Given the description of an element on the screen output the (x, y) to click on. 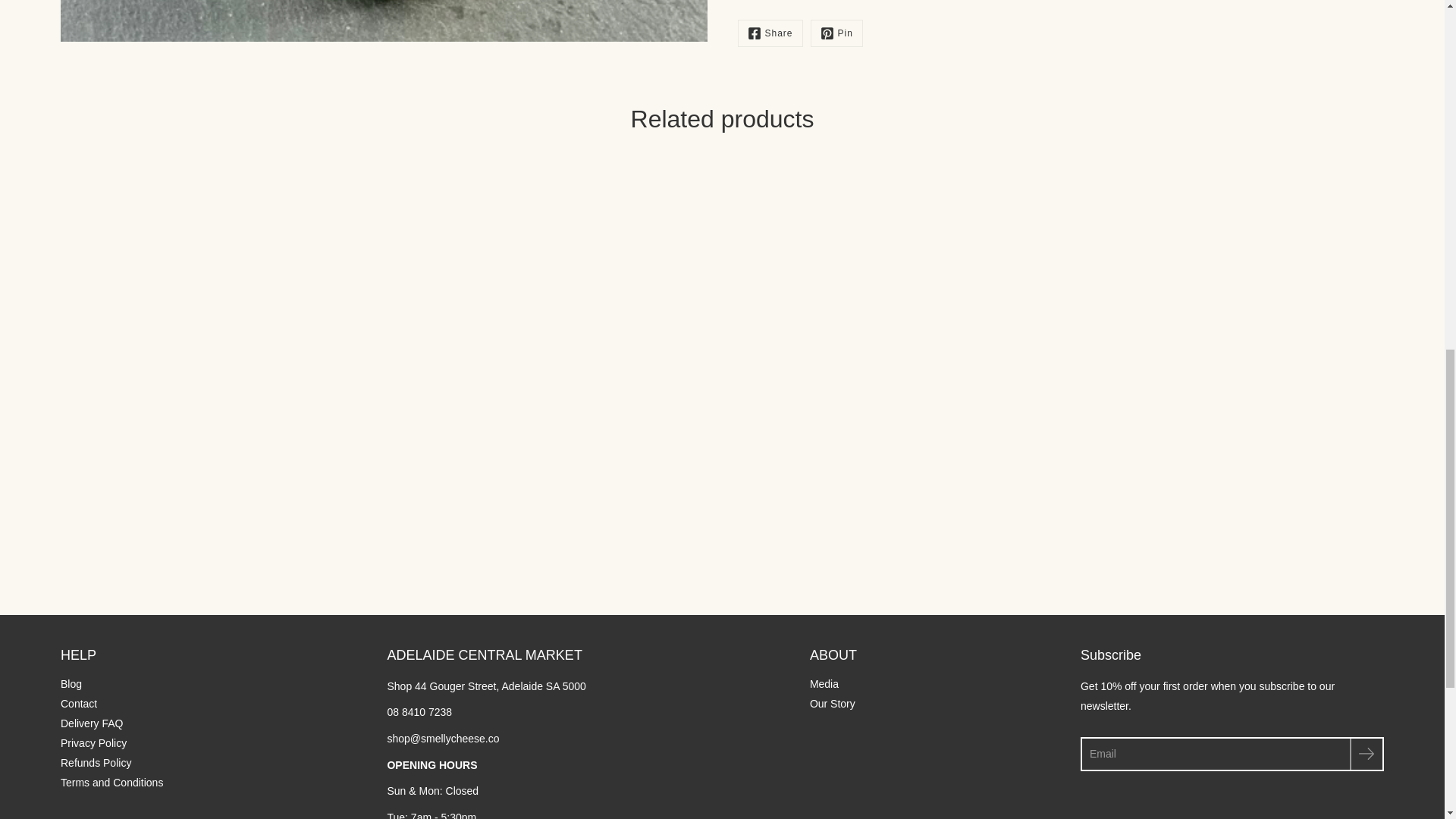
Facebook (769, 32)
Pinterest (836, 32)
